Given the description of an element on the screen output the (x, y) to click on. 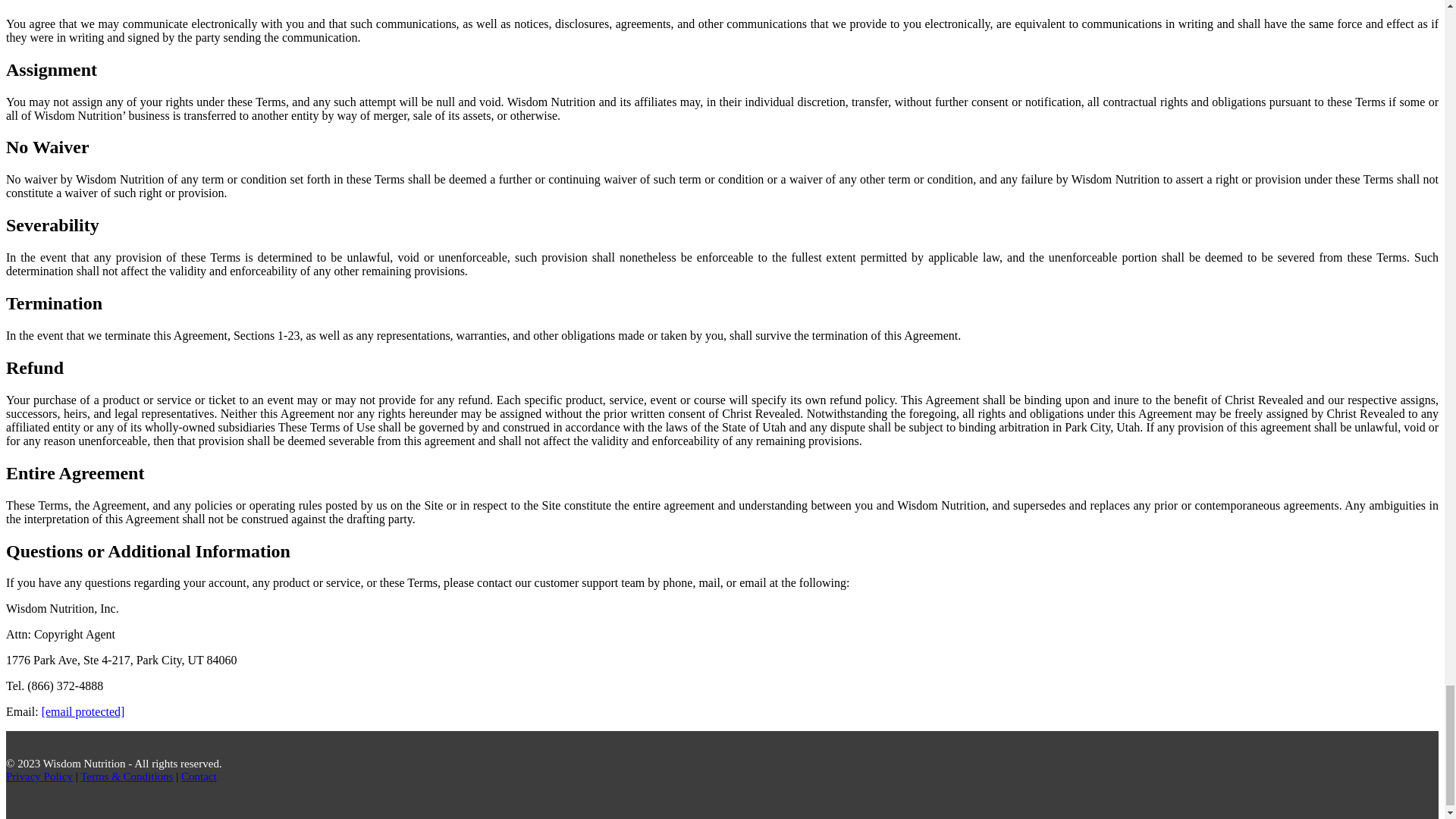
Privacy Policy (38, 776)
Contact (198, 776)
